Given the description of an element on the screen output the (x, y) to click on. 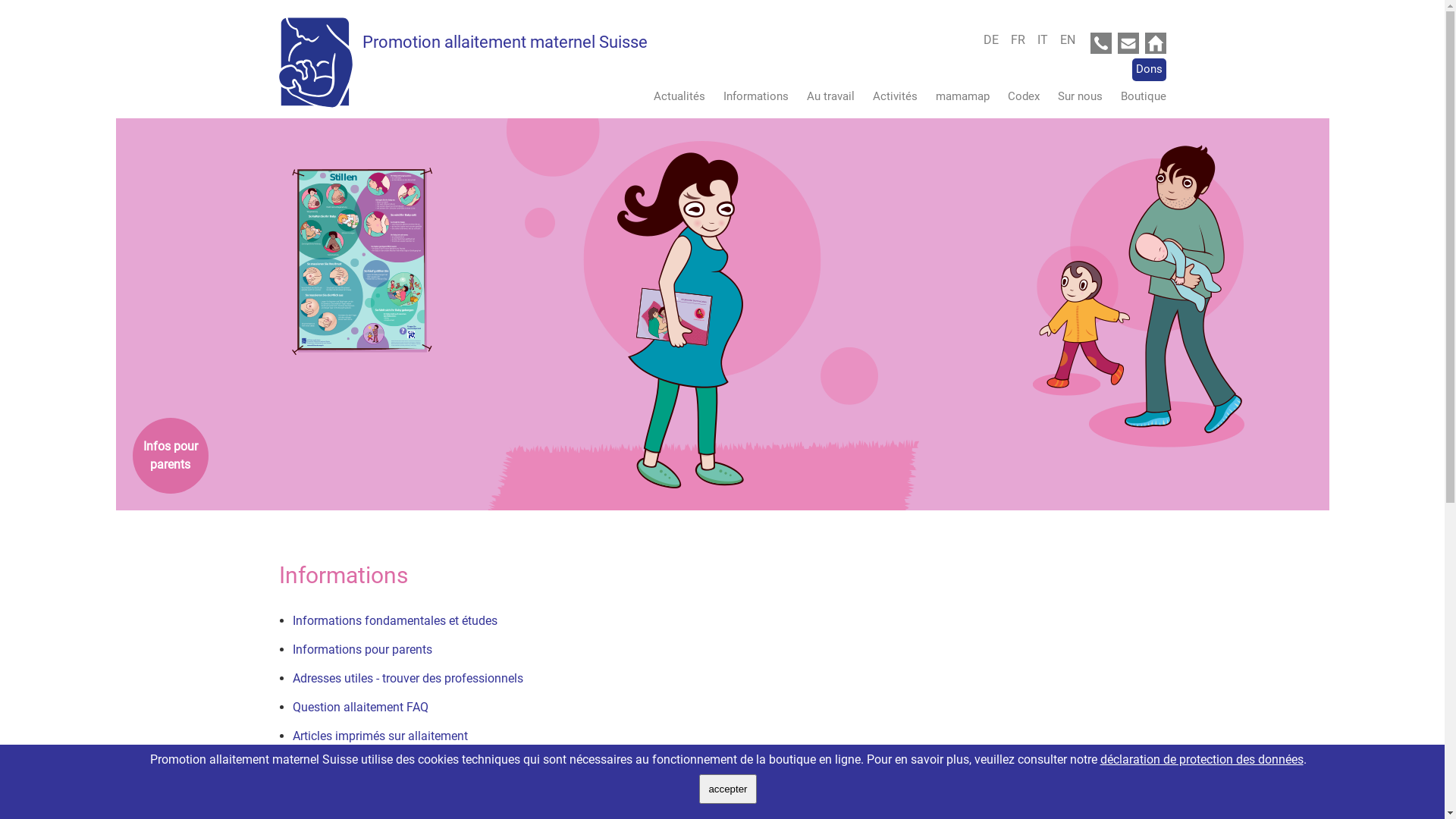
Boutique Element type: text (1135, 95)
Adresses utiles - trouver des professionnels Element type: text (407, 678)
Promotion allaitement maternel Suisse Element type: text (504, 41)
IT Element type: text (1047, 39)
Sur nous Element type: text (1071, 95)
Au travail Element type: text (822, 95)
Infos pour
parents Element type: text (169, 455)
DE Element type: text (994, 39)
Informations Element type: text (748, 95)
Informations pour parents Element type: text (362, 656)
accepter Element type: text (727, 788)
EN Element type: text (1067, 39)
Dons Element type: text (1148, 69)
Question allaitement FAQ Element type: text (360, 713)
Codex Element type: text (1014, 95)
mamamap Element type: text (954, 95)
Films sur l'allaitement Element type: text (351, 764)
